Given the description of an element on the screen output the (x, y) to click on. 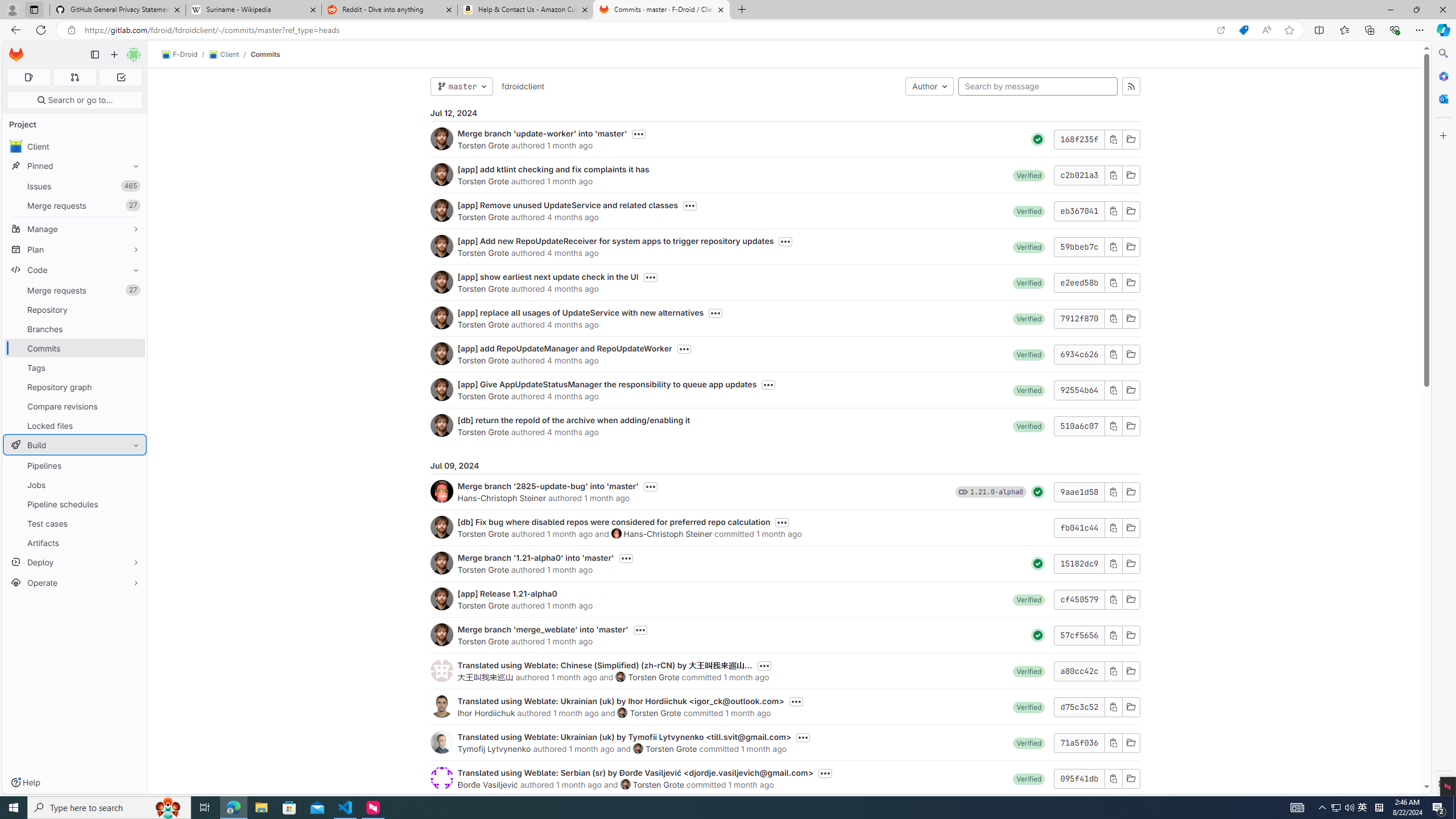
avatar (15, 146)
Repository (74, 309)
Open in app (1220, 29)
Tymofij Lytvynenko's avatar (440, 741)
